Given the description of an element on the screen output the (x, y) to click on. 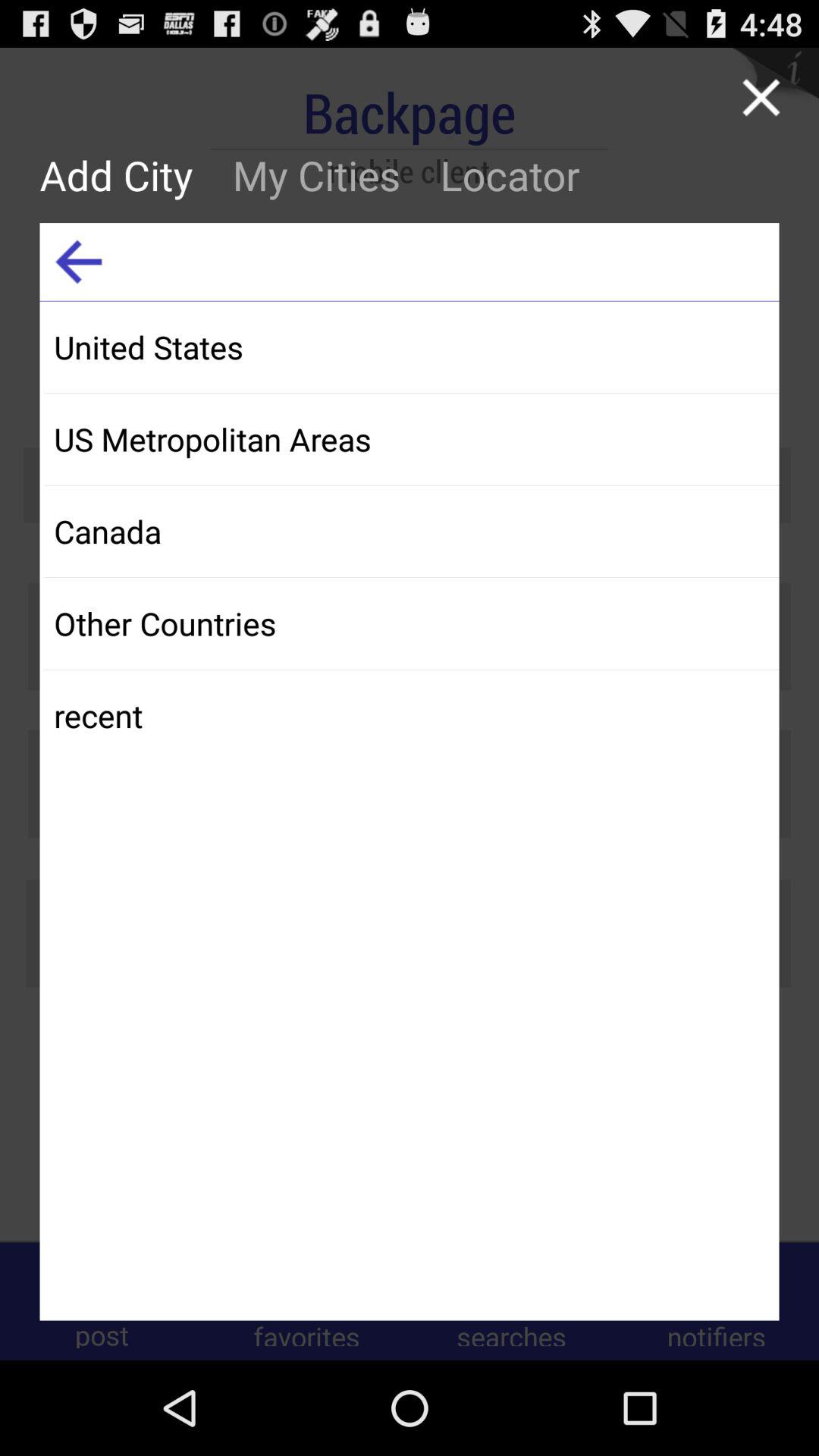
open button to the left of locator (316, 174)
